Given the description of an element on the screen output the (x, y) to click on. 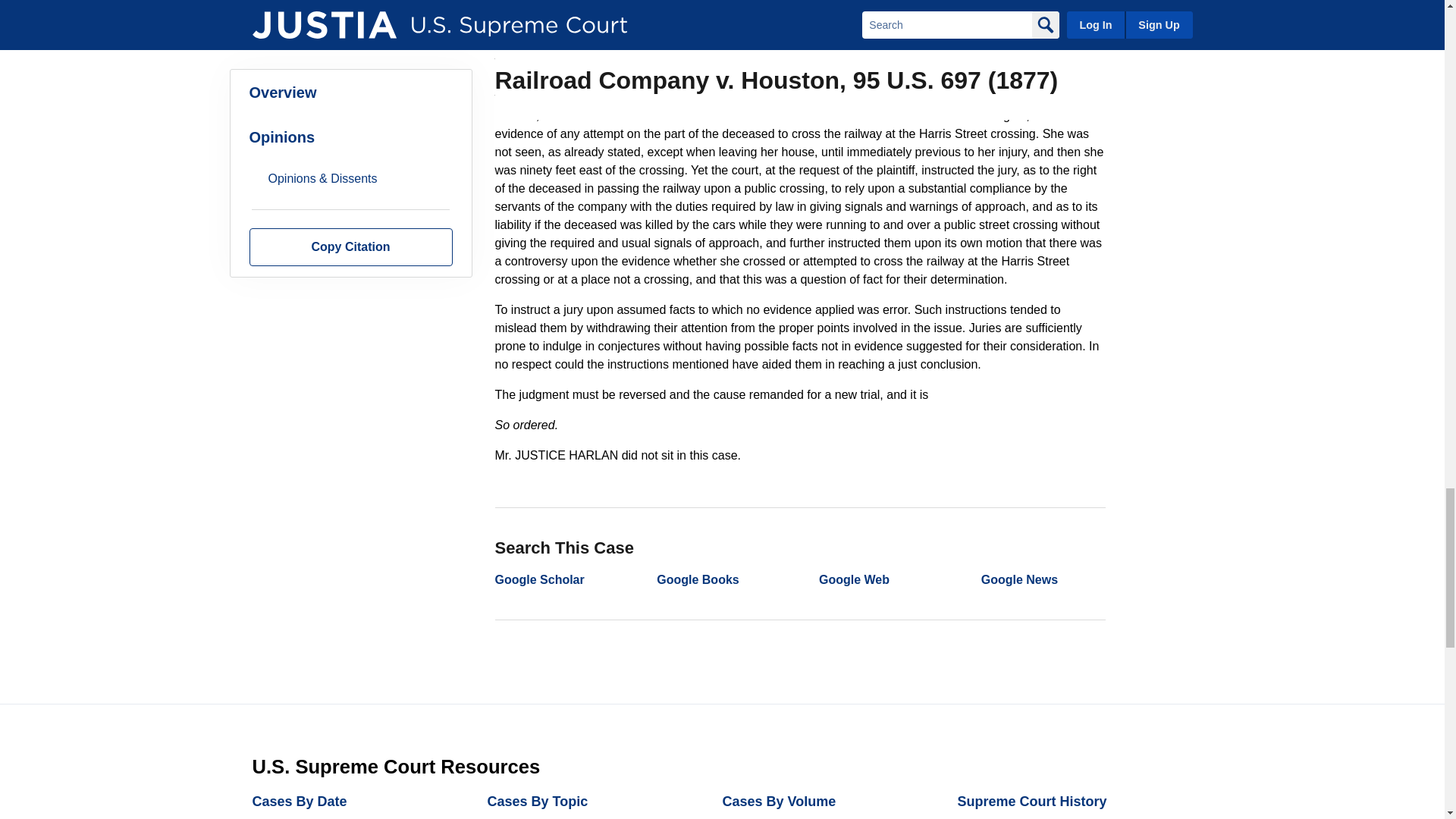
Law - Google News (1019, 579)
Law - Google Books (697, 579)
Law - Google Web (853, 579)
Law - Google Scholar (539, 579)
